Given the description of an element on the screen output the (x, y) to click on. 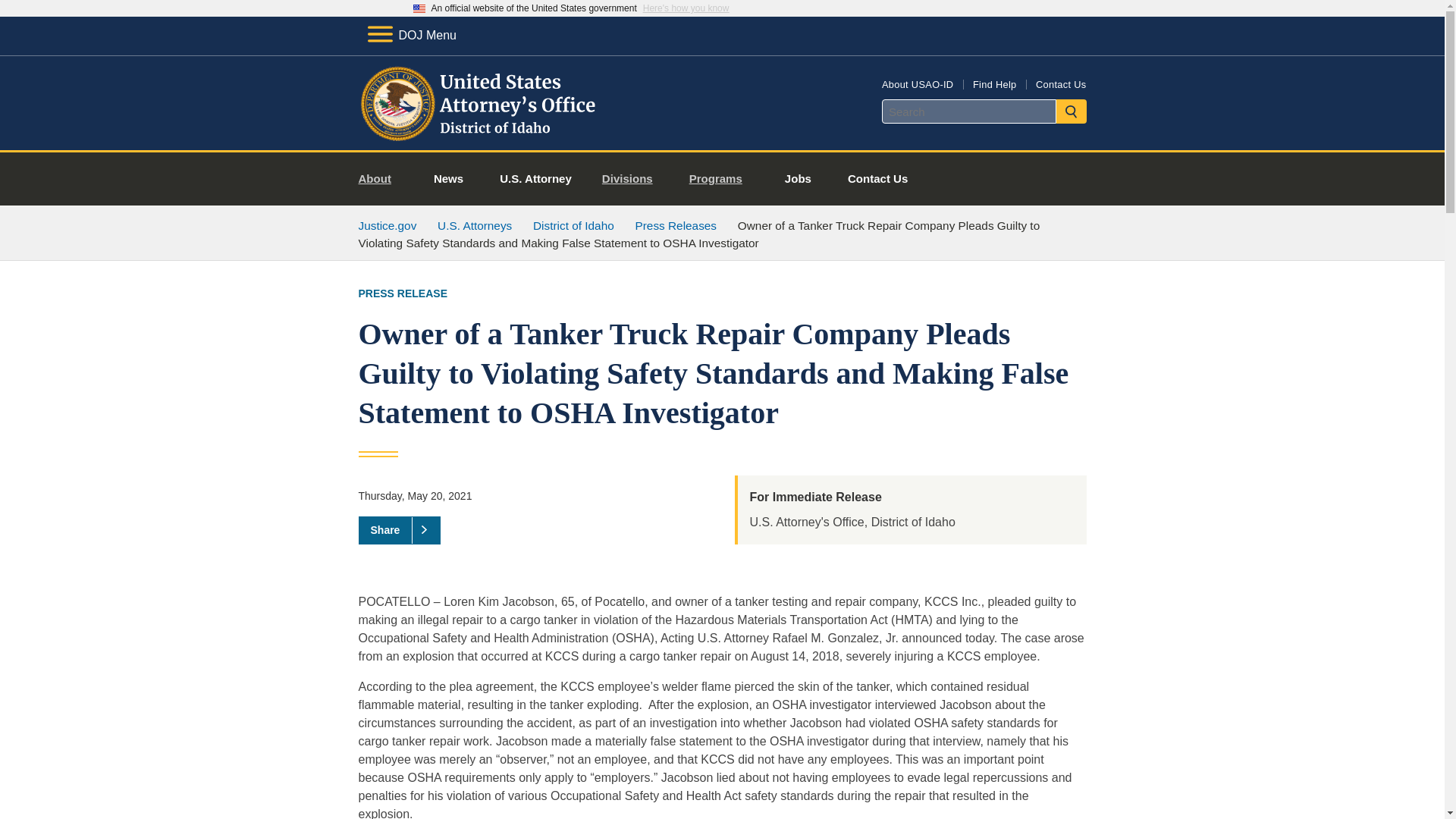
Justice.gov (387, 225)
Programs (722, 179)
Home (478, 132)
Find Help (994, 84)
About USAO-ID (917, 84)
U.S. Attorneys (475, 225)
Jobs (798, 179)
Divisions (633, 179)
News (447, 179)
About (380, 179)
